Given the description of an element on the screen output the (x, y) to click on. 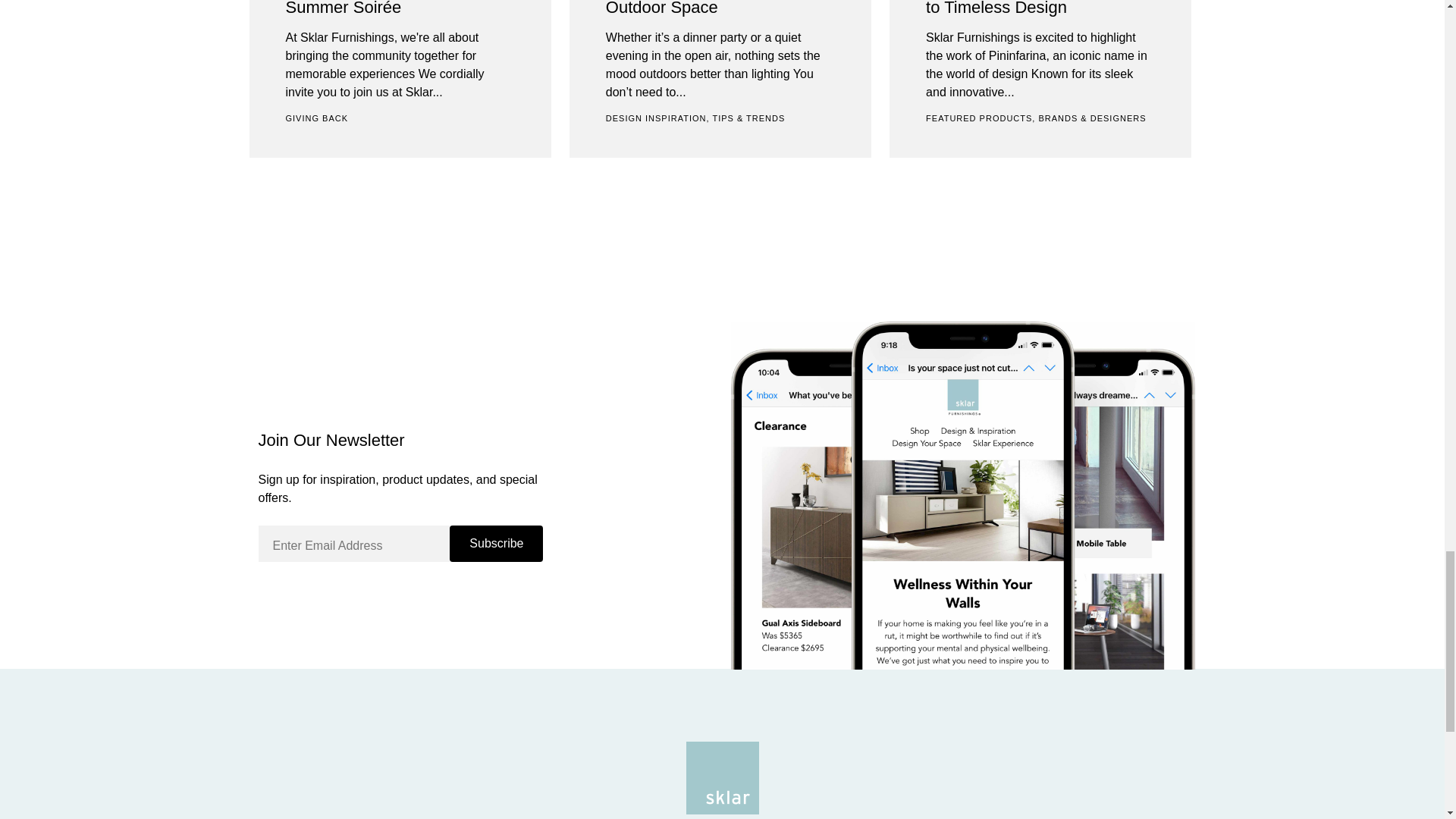
Subscribe (496, 543)
